Given the description of an element on the screen output the (x, y) to click on. 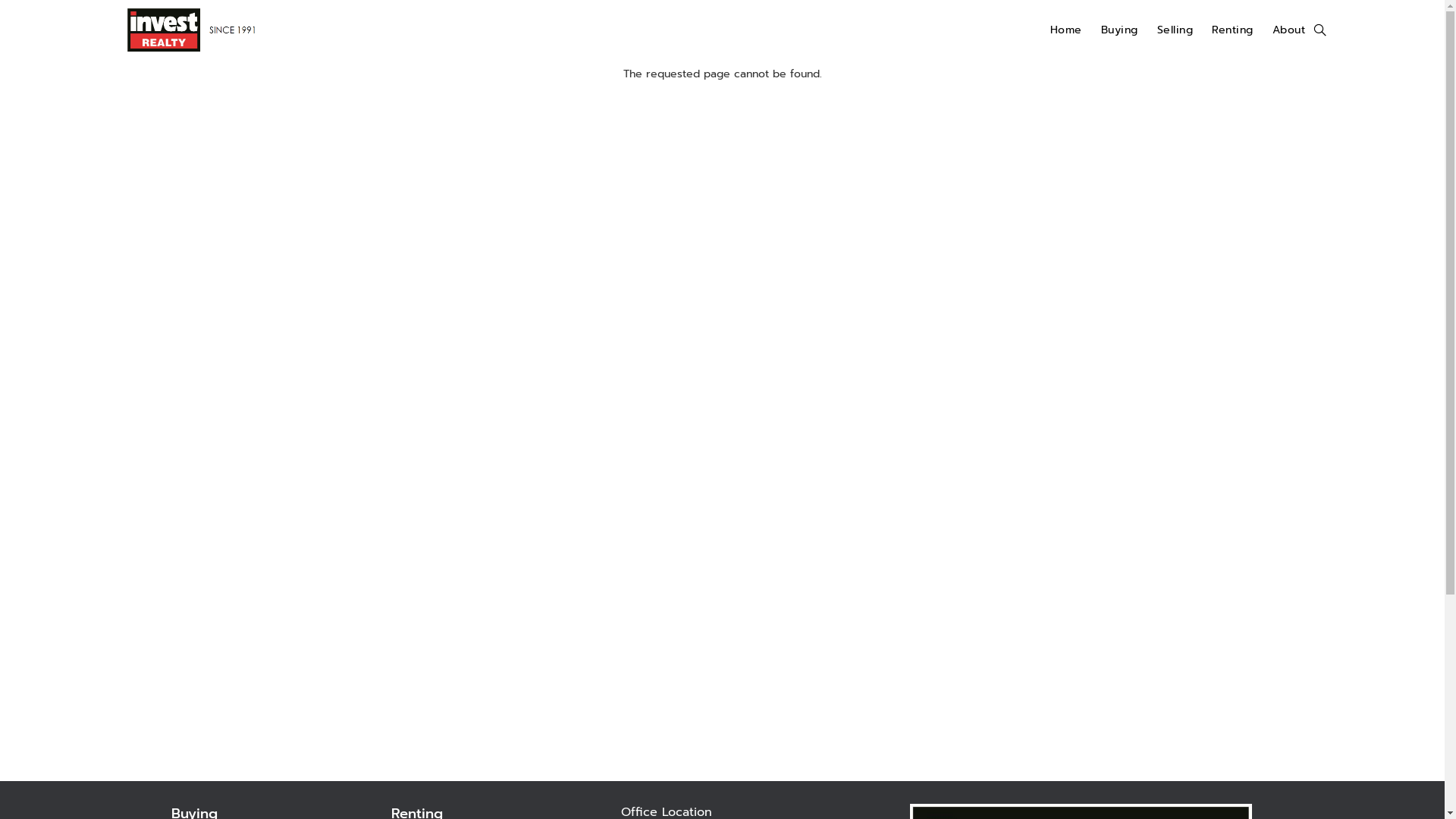
Renting Element type: text (1232, 30)
Buying Element type: text (1119, 30)
Home Element type: text (1065, 30)
Selling Element type: text (1175, 30)
About Element type: text (1288, 30)
